Given the description of an element on the screen output the (x, y) to click on. 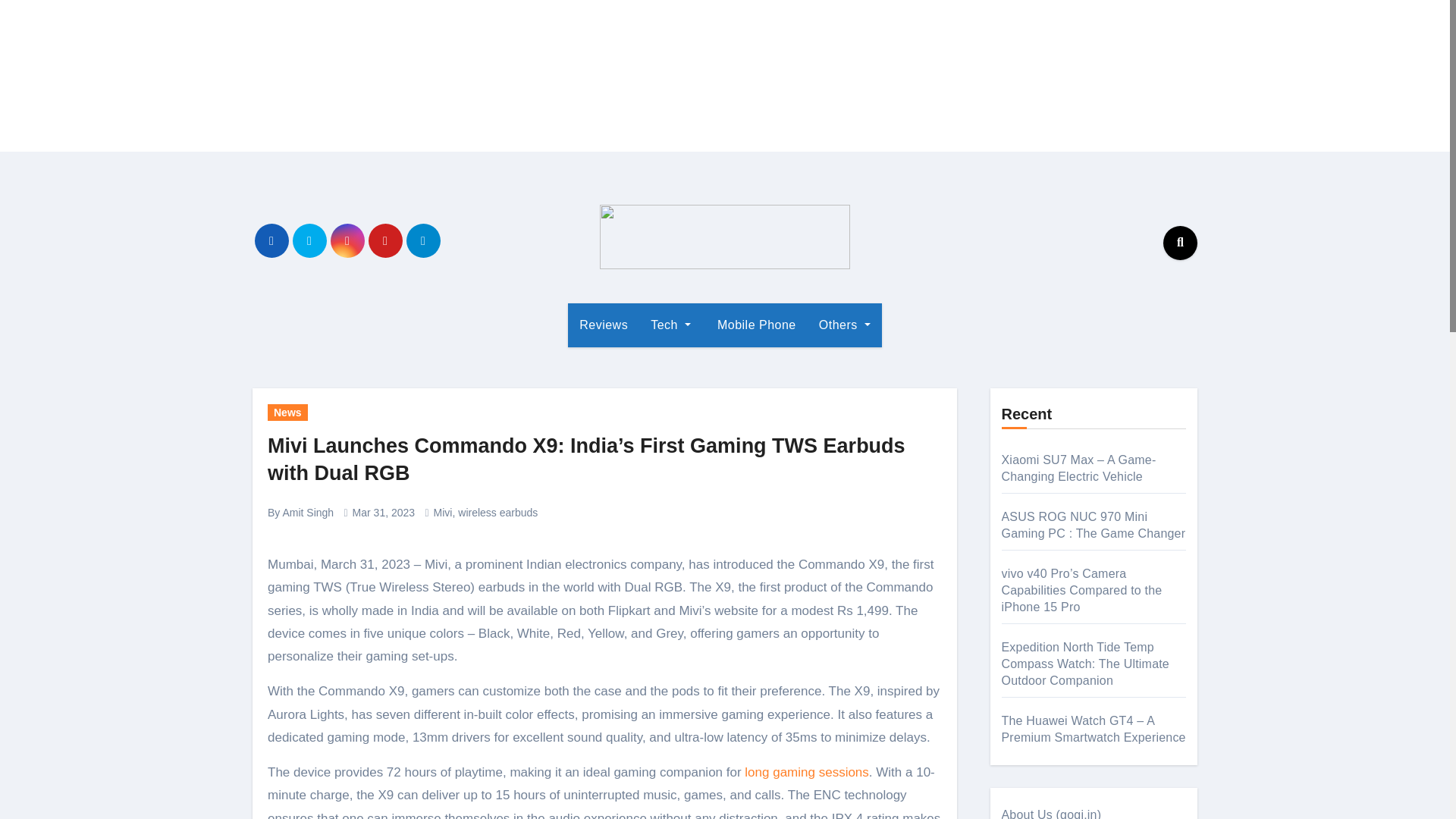
News (287, 412)
Others (845, 325)
Tech (670, 325)
Tech (670, 325)
Reviews (603, 325)
By Amit Singh (300, 512)
 Mobile Phone (754, 325)
Reviews (603, 325)
Mobile Phone Section (754, 325)
Others (845, 325)
